Given the description of an element on the screen output the (x, y) to click on. 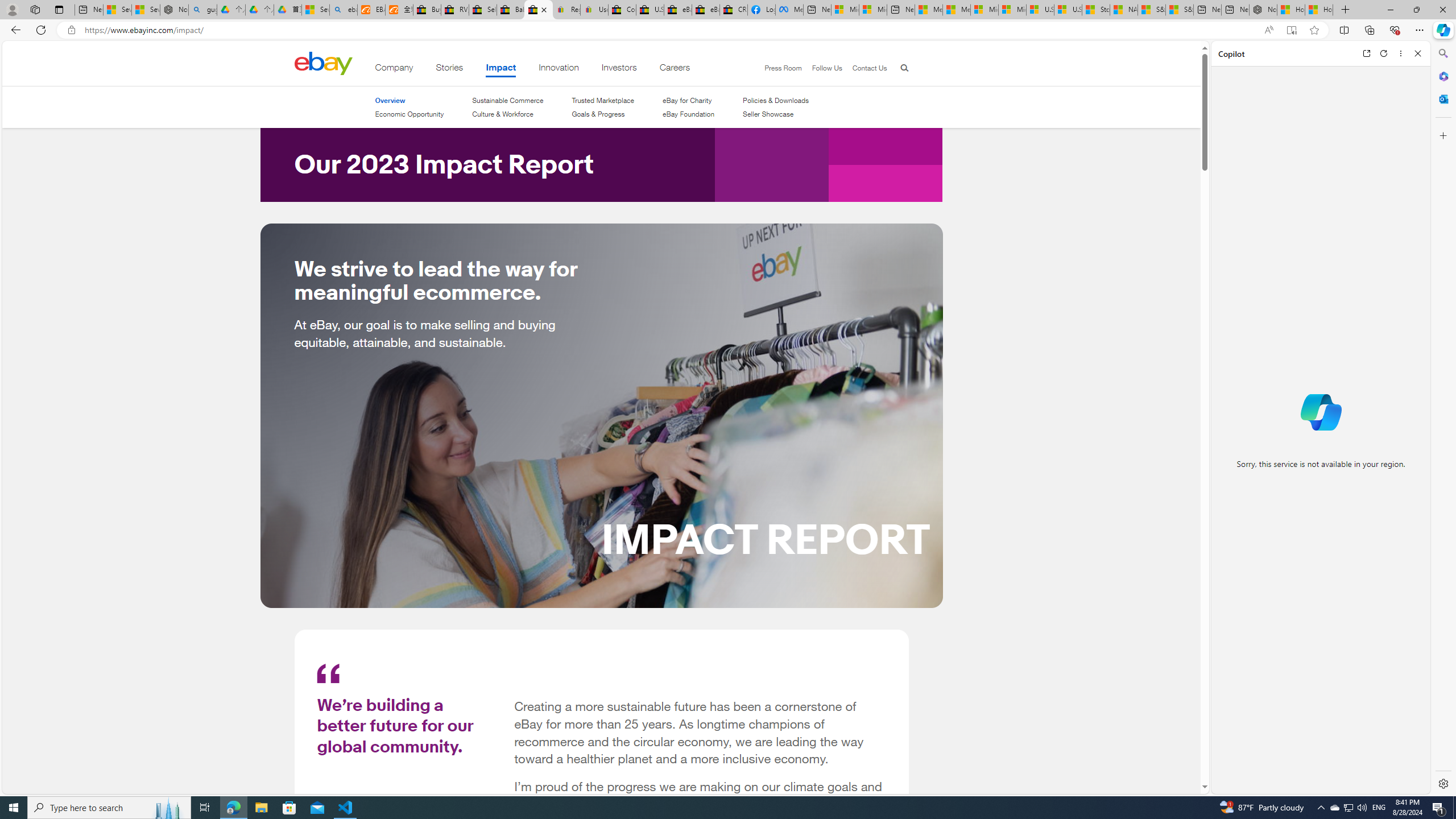
Workspaces (34, 9)
Customize (1442, 135)
Follow Us (821, 68)
New Tab (1346, 9)
Investors (619, 69)
Policies & Downloads (775, 100)
Company (393, 69)
Trusted Marketplace (603, 100)
User Privacy Notice | eBay (593, 9)
Contact Us (863, 68)
Goals & Progress (598, 113)
